Given the description of an element on the screen output the (x, y) to click on. 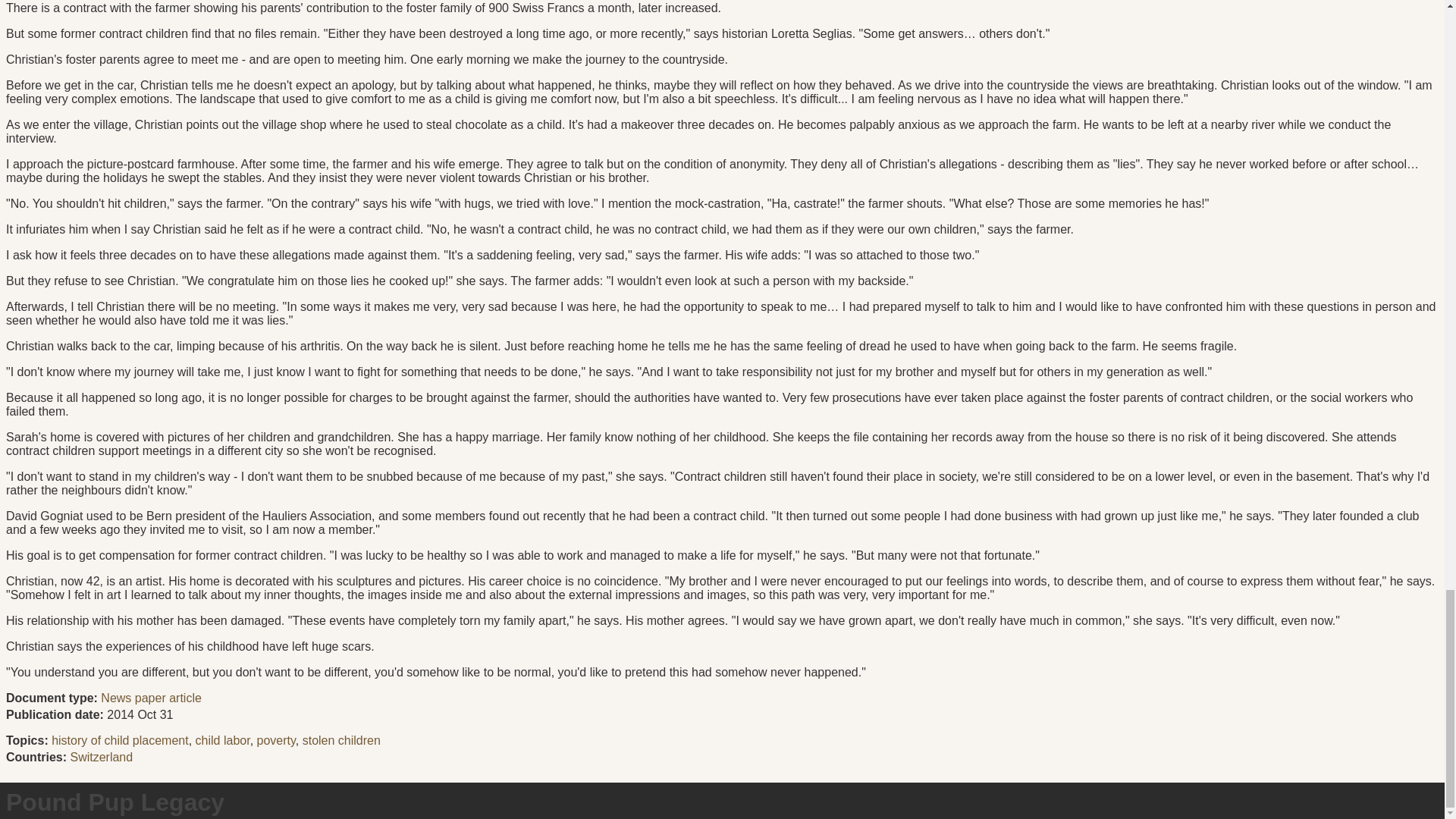
News paper article (151, 697)
stolen children (341, 739)
poverty (276, 739)
Switzerland (100, 757)
history of child placement (119, 739)
child labor (222, 739)
